Given the description of an element on the screen output the (x, y) to click on. 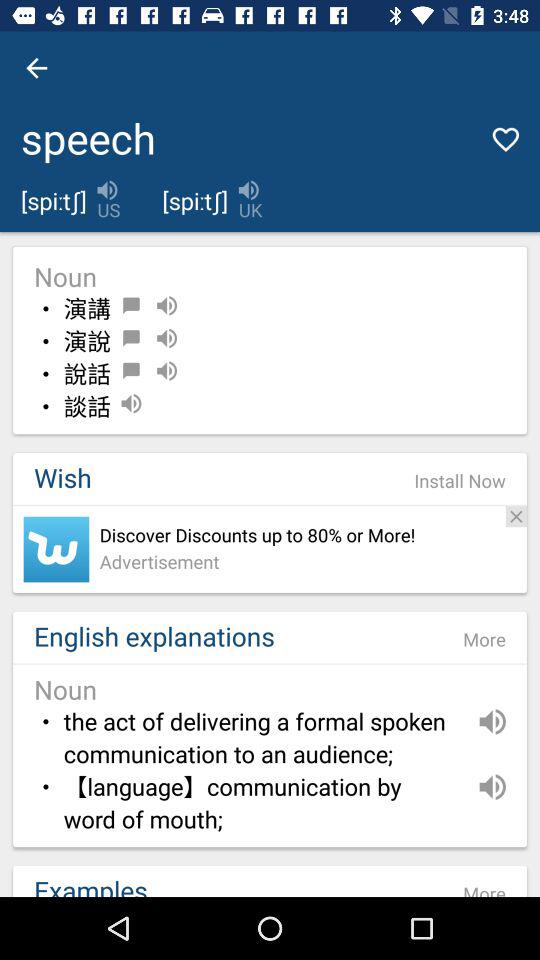
select icon below the noun item (459, 481)
